Given the description of an element on the screen output the (x, y) to click on. 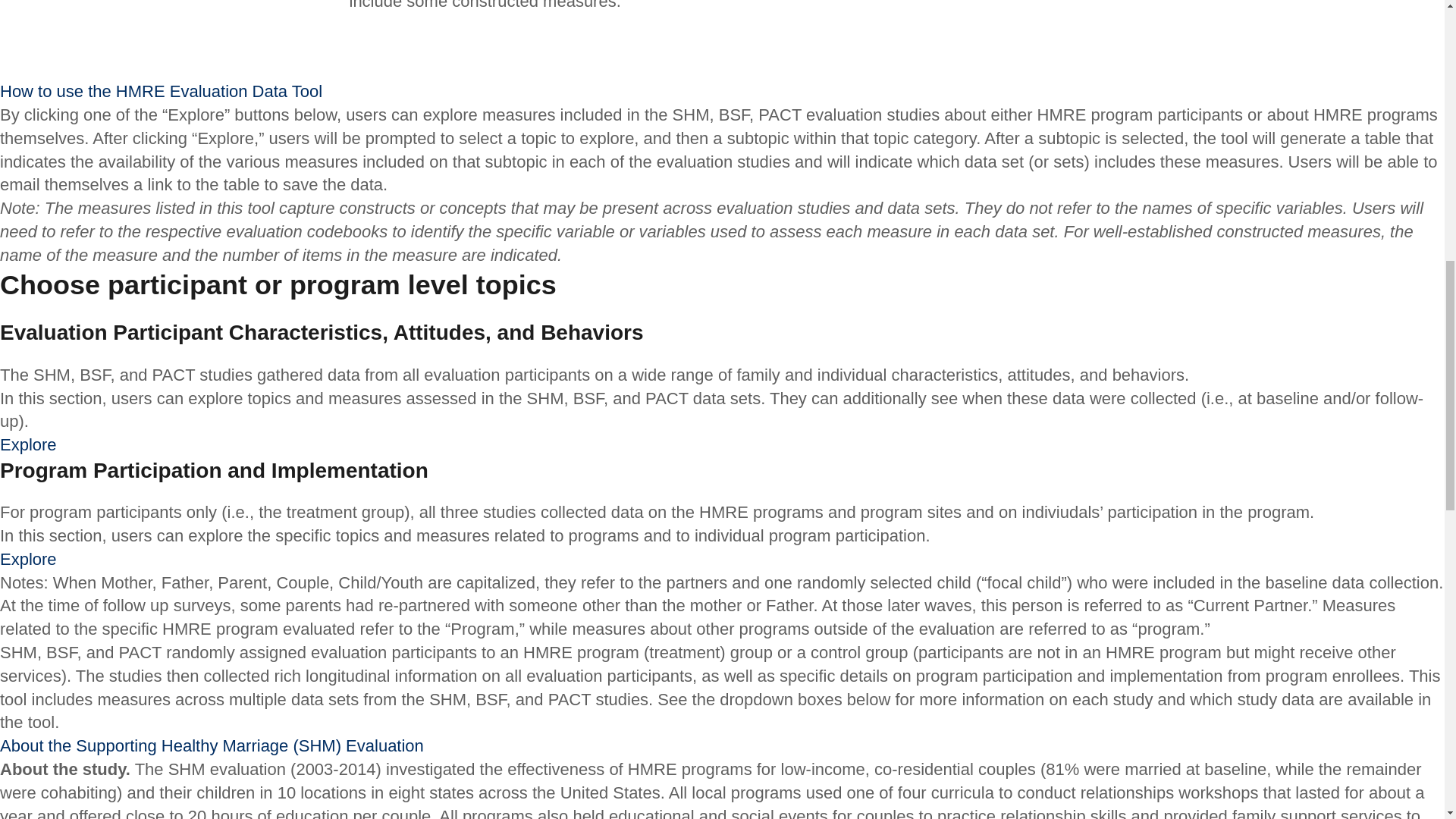
Explore (28, 444)
Explore (28, 558)
How to use the HMRE Evaluation Data Tool (160, 90)
